Given the description of an element on the screen output the (x, y) to click on. 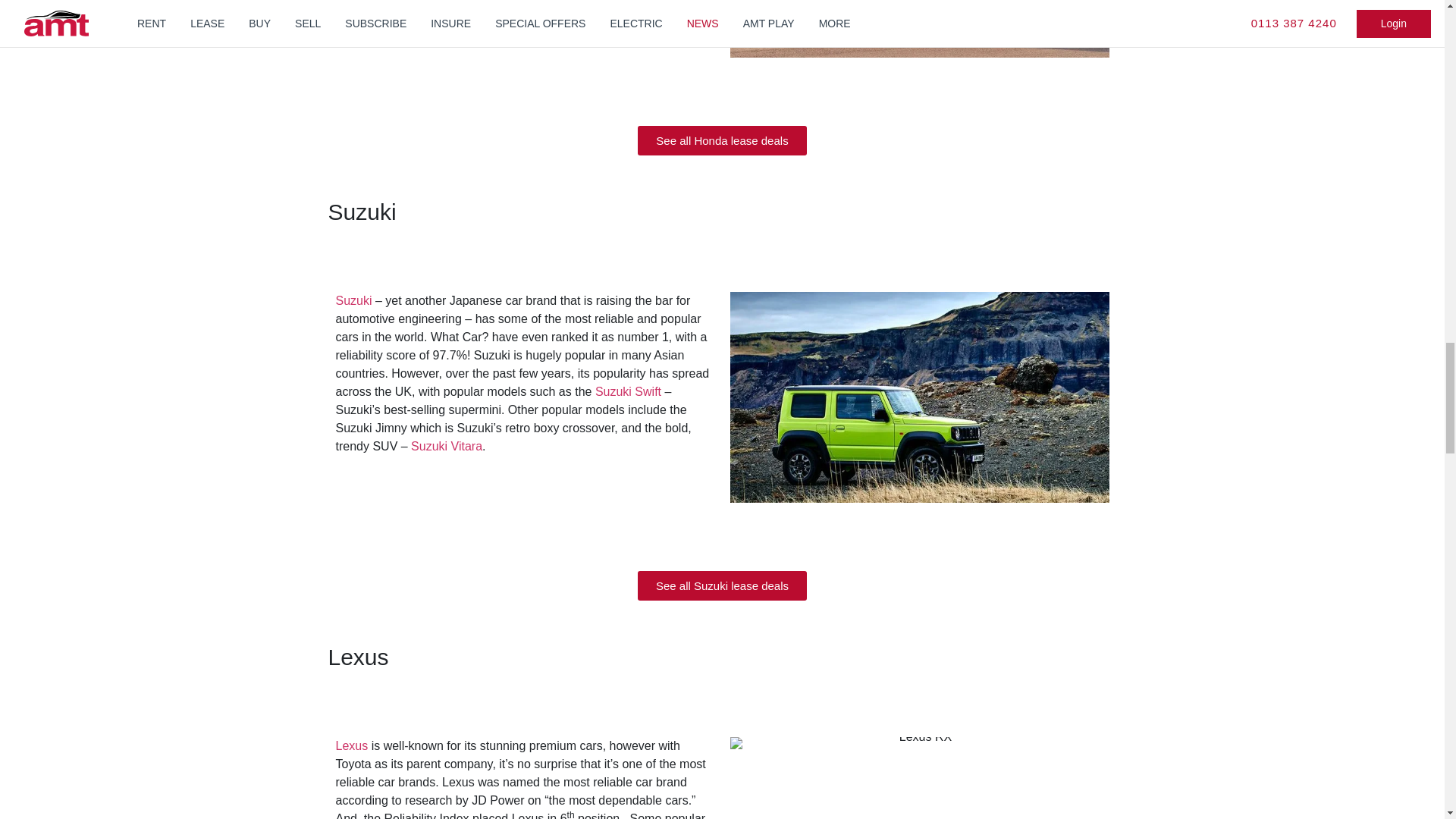
Lexus (351, 745)
Suzuki (352, 300)
Suzuki Swift (628, 391)
See all Honda lease deals (721, 140)
See all Suzuki lease deals (721, 585)
Suzuki Vitara (445, 445)
